Given the description of an element on the screen output the (x, y) to click on. 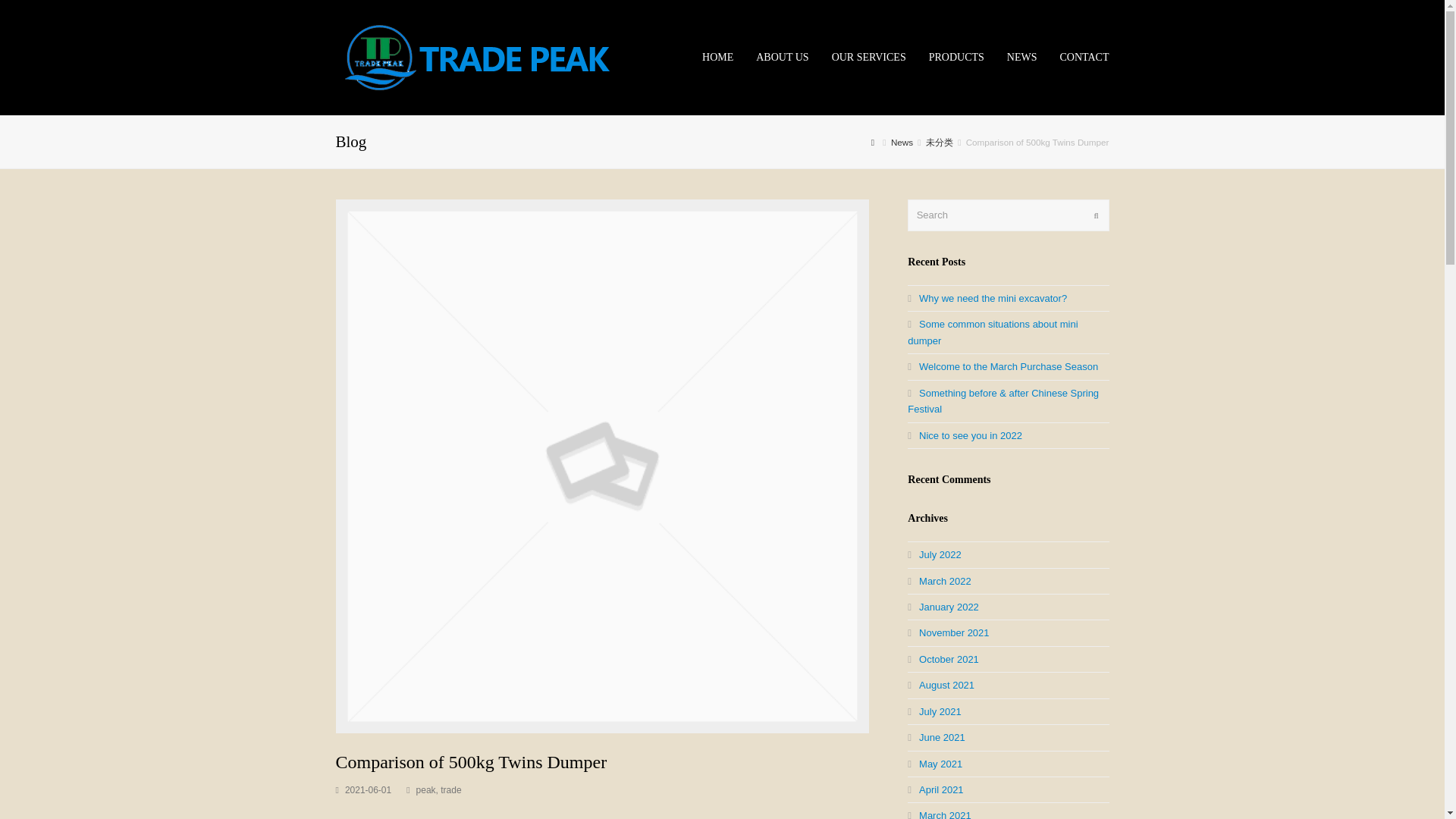
NEWS (1021, 57)
peak, trade (438, 789)
HOME (717, 57)
Posts by peak, trade (438, 789)
ABOUT US (781, 57)
News (901, 142)
CONTACT (1083, 57)
OUR SERVICES (869, 57)
PRODUCTS (956, 57)
